Given the description of an element on the screen output the (x, y) to click on. 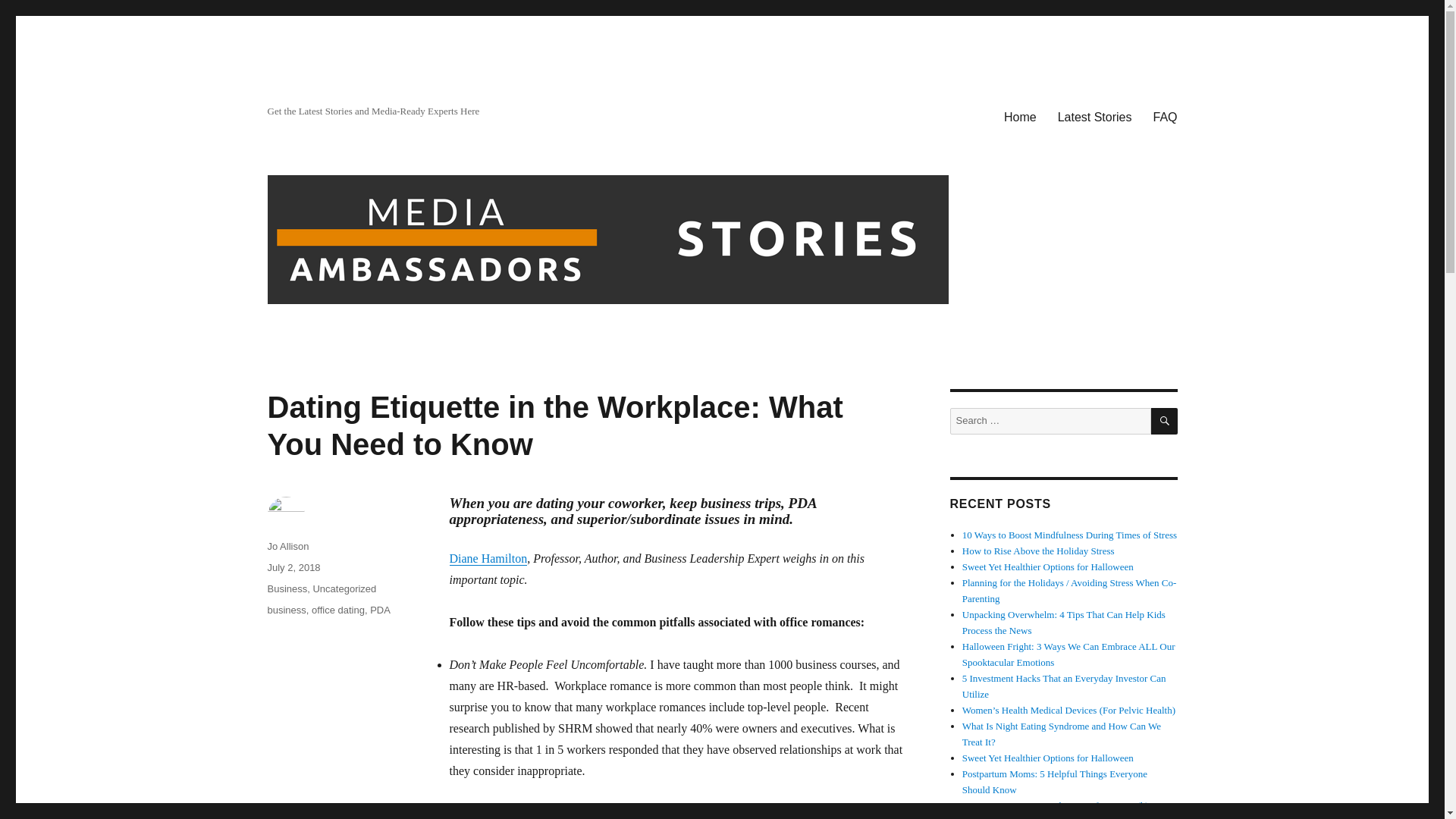
What Is Night Eating Syndrome and How Can We Treat It? (1061, 733)
PDA (379, 609)
Home (1019, 116)
Diane Hamilton (487, 558)
Jo Allison (287, 546)
office dating (338, 609)
business (285, 609)
SEARCH (1164, 420)
July 2, 2018 (293, 567)
Sweet Yet Healthier Options for Halloween (1048, 566)
Postpartum Moms: 5 Helpful Things Everyone Should Know (1054, 781)
10 Ways to Boost Mindfulness During Times of Stress (1069, 534)
5 Investment Hacks That an Everyday Investor Can Utilize (1064, 686)
FAQ (1164, 116)
